Given the description of an element on the screen output the (x, y) to click on. 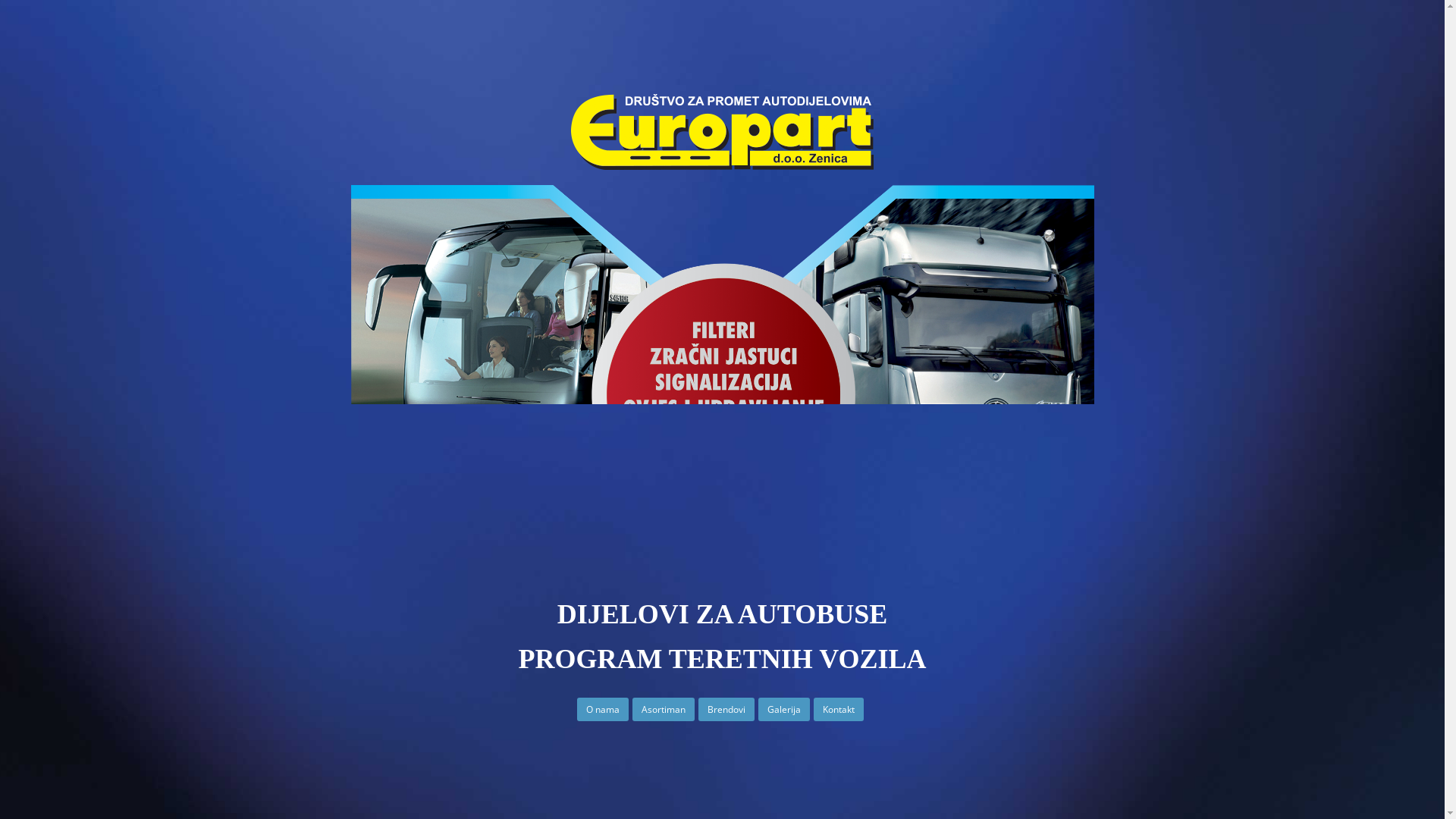
Asortiman Element type: text (663, 709)
Brendovi Element type: text (726, 709)
Galerija Element type: text (783, 709)
Kontakt Element type: text (838, 709)
O nama Element type: text (602, 709)
